Given the description of an element on the screen output the (x, y) to click on. 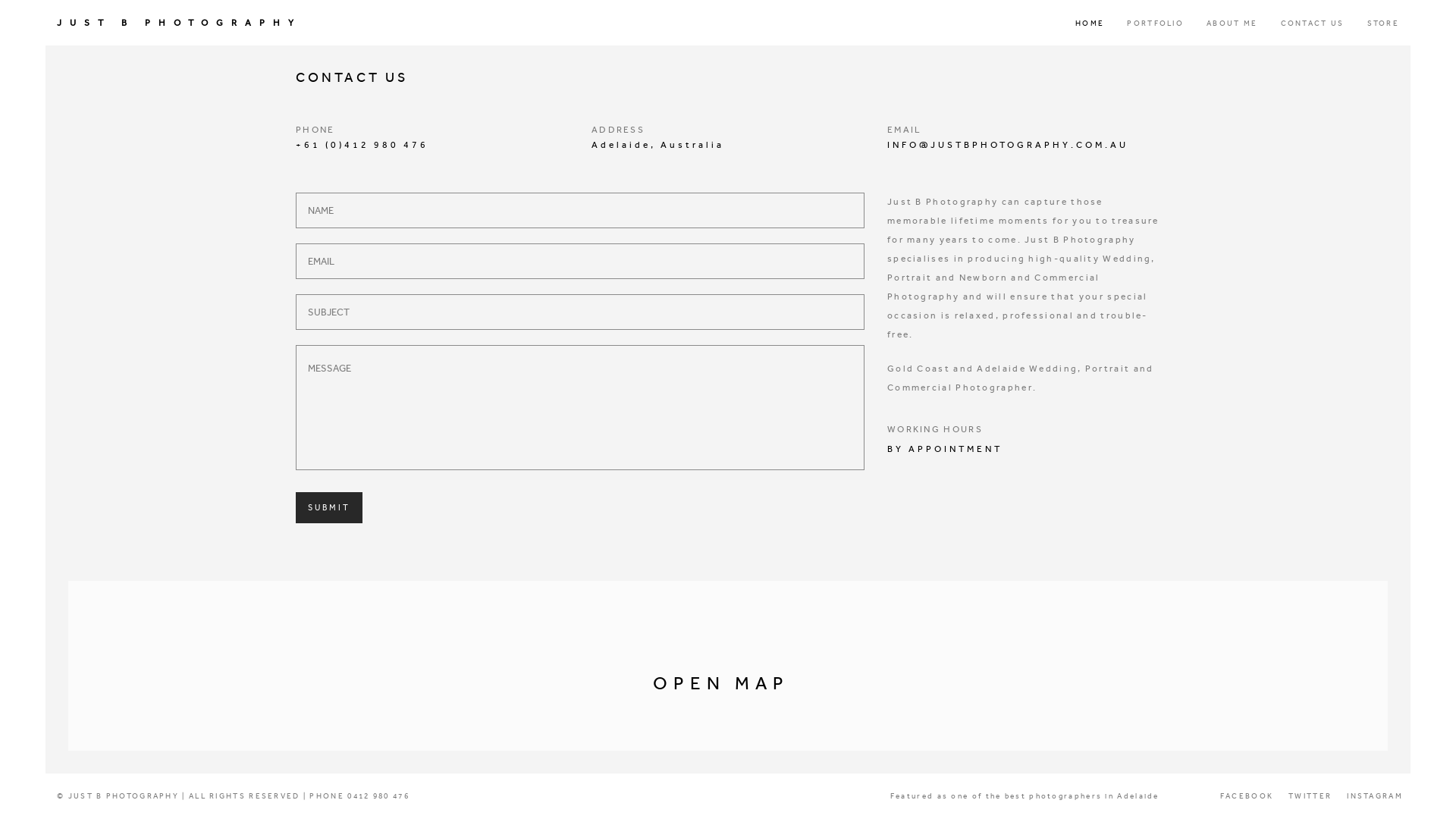
STORE Element type: text (1383, 23)
PORTFOLIO Element type: text (1155, 23)
CONTACT US Element type: text (1312, 23)
HOME Element type: text (1089, 23)
JUST B PHOTOGRAPHY Element type: text (179, 22)
ABOUT ME Element type: text (1231, 23)
